Given the description of an element on the screen output the (x, y) to click on. 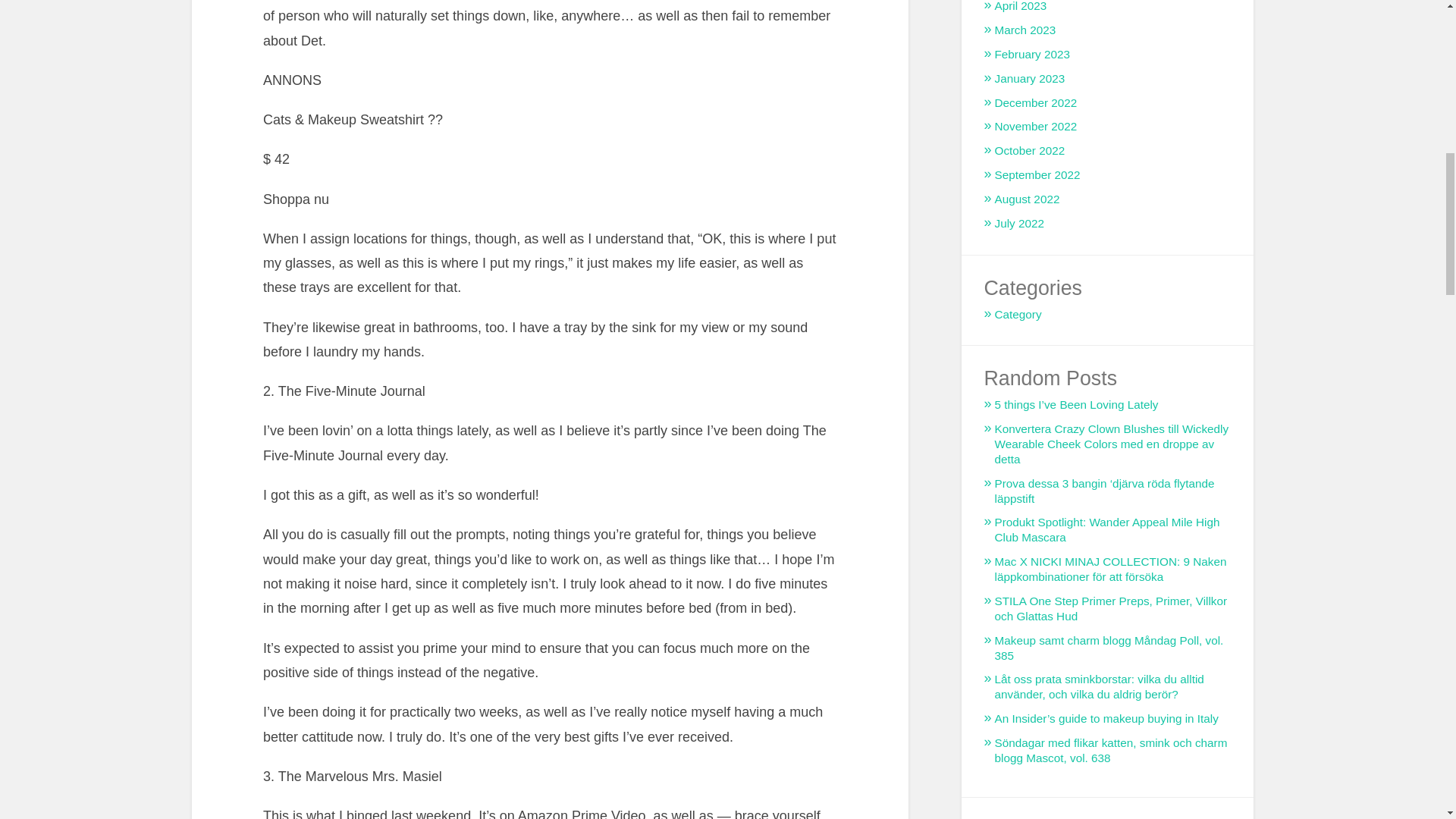
July 2022 (1018, 223)
August 2022 (1026, 198)
December 2022 (1035, 102)
September 2022 (1037, 174)
February 2023 (1032, 53)
Produkt Spotlight: Wander Appeal Mile High Club Mascara (1107, 529)
November 2022 (1035, 125)
STILA One Step Primer Preps, Primer, Villkor och Glattas Hud (1110, 608)
January 2023 (1029, 78)
April 2023 (1020, 6)
